Given the description of an element on the screen output the (x, y) to click on. 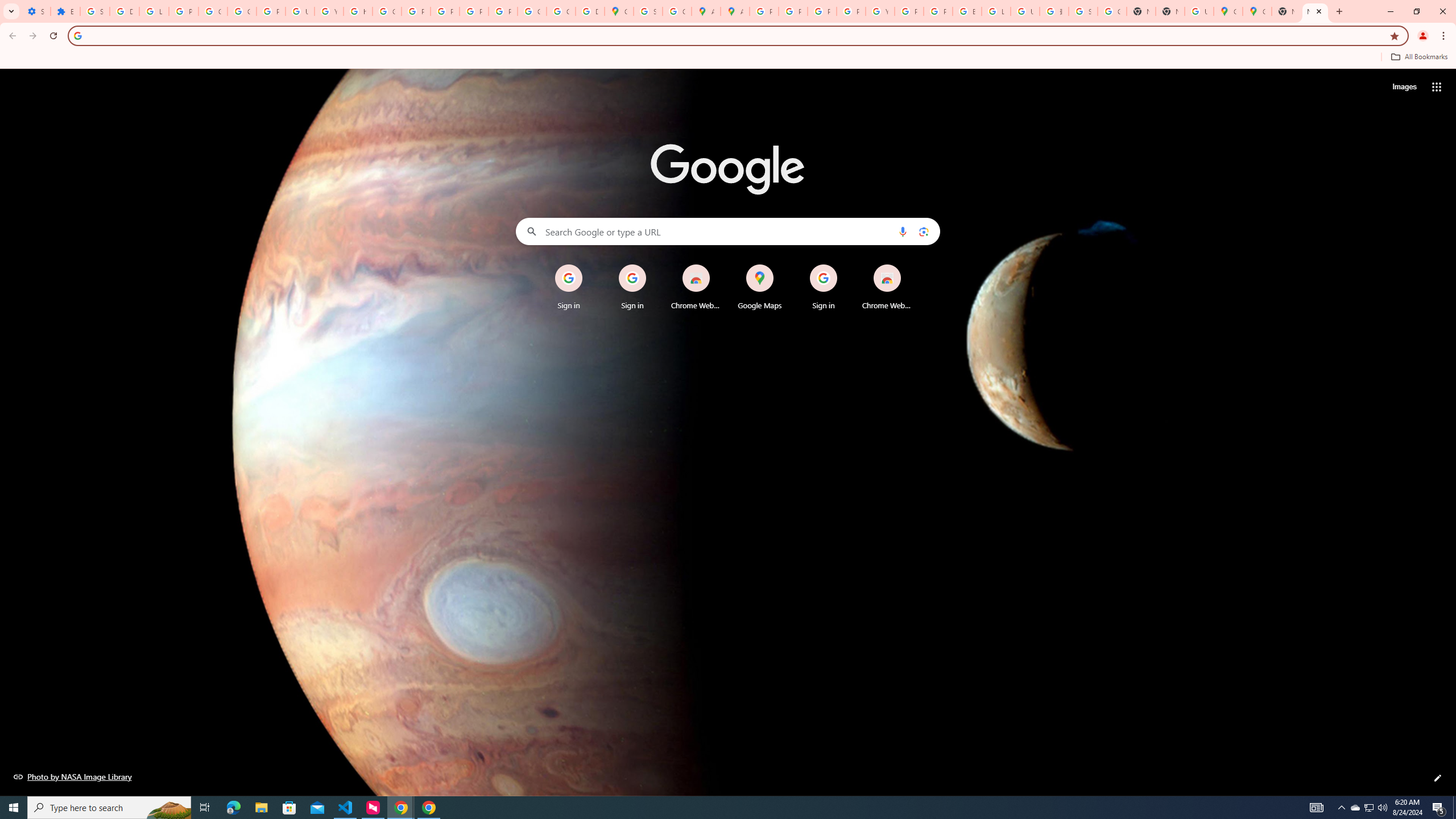
Privacy Help Center - Policies Help (415, 11)
Search icon (77, 35)
Search by voice (902, 230)
Create your Google Account (677, 11)
Extensions (65, 11)
Google Maps (1256, 11)
Sign in - Google Accounts (1082, 11)
Bookmarks (728, 58)
